Given the description of an element on the screen output the (x, y) to click on. 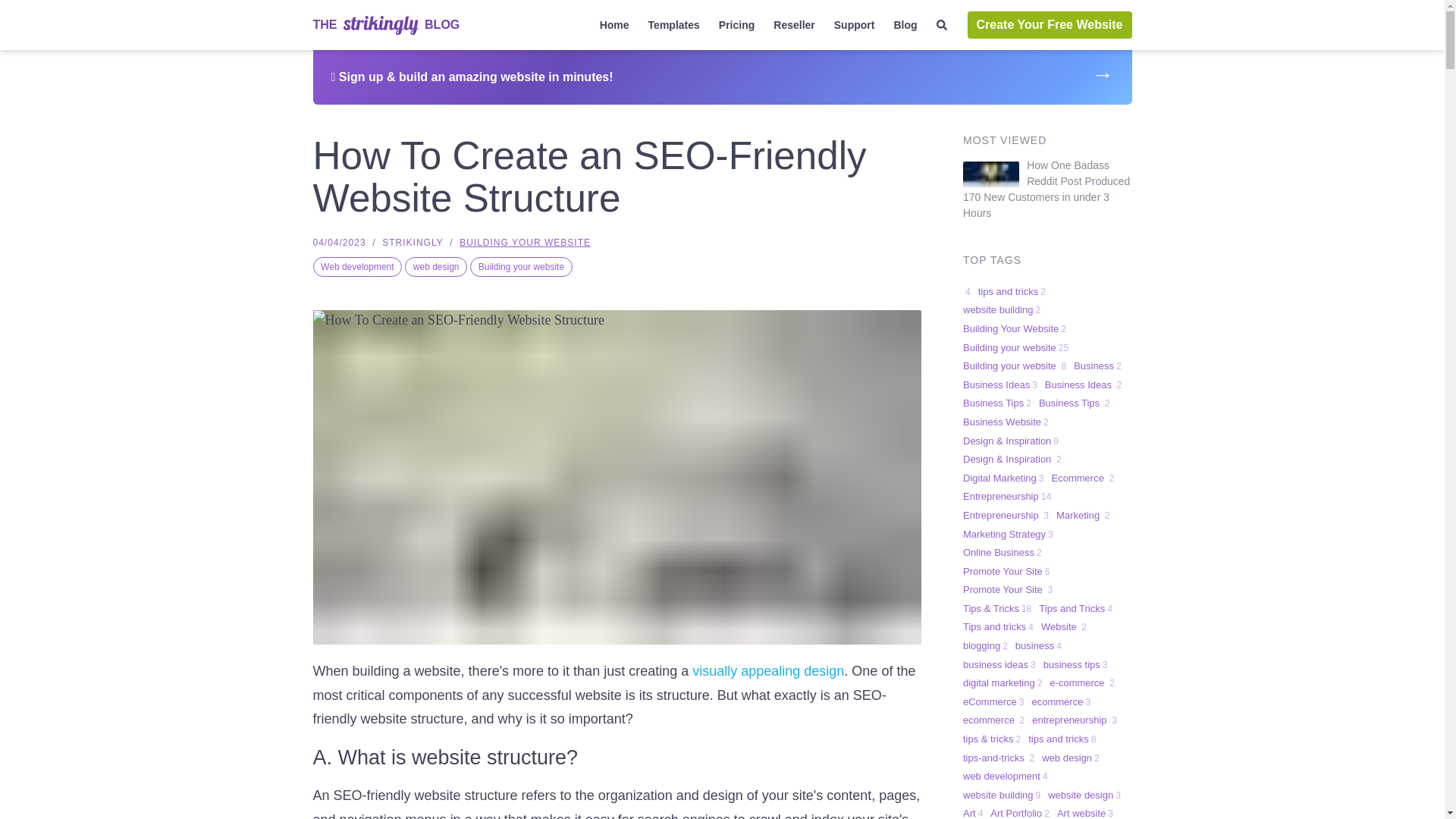
Blog (904, 24)
Create Your Free Website (1050, 24)
Building Your Website2 (1013, 329)
web design (435, 266)
Home (614, 24)
Business2 (1097, 366)
website building2 (1001, 310)
Web development (357, 266)
tips and tricks2 (1011, 291)
BUILDING YOUR WEBSITE (525, 242)
Reseller (794, 24)
The Strikingly Blog (381, 25)
Building your website (521, 266)
THE BLOG (386, 24)
